Given the description of an element on the screen output the (x, y) to click on. 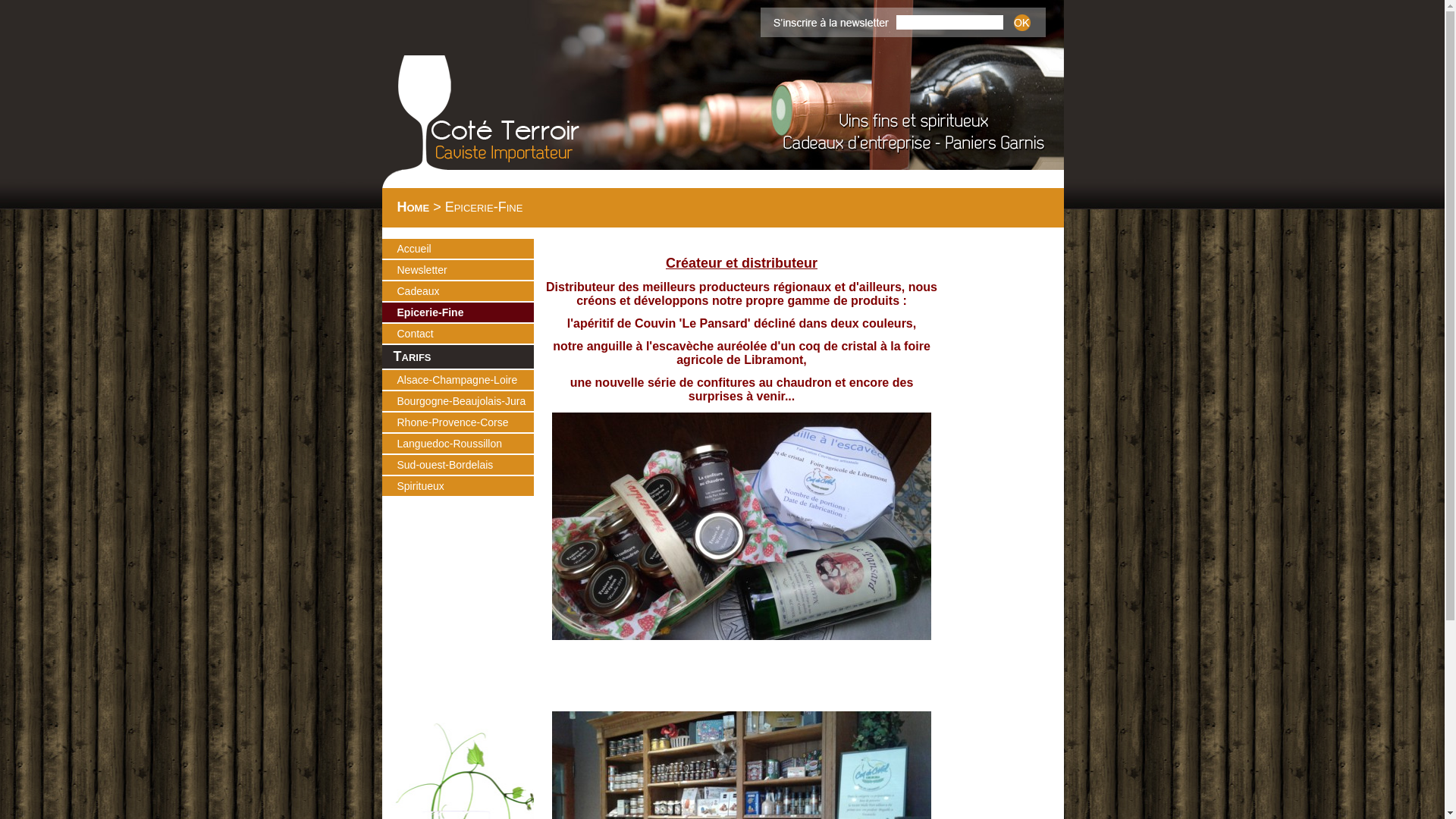
Home Element type: text (413, 206)
Newsletter Element type: text (465, 269)
Contact Element type: text (465, 333)
Accueil Element type: text (465, 248)
Rhone-Provence-Corse Element type: text (465, 422)
Cadeaux Element type: text (465, 291)
Bourgogne-Beaujolais-Jura Element type: text (465, 401)
Spiritueux Element type: text (465, 486)
Alsace-Champagne-Loire Element type: text (465, 379)
Sud-ouest-Bordelais Element type: text (465, 464)
Languedoc-Roussillon Element type: text (465, 443)
Epicerie-Fine Element type: text (465, 312)
